Given the description of an element on the screen output the (x, y) to click on. 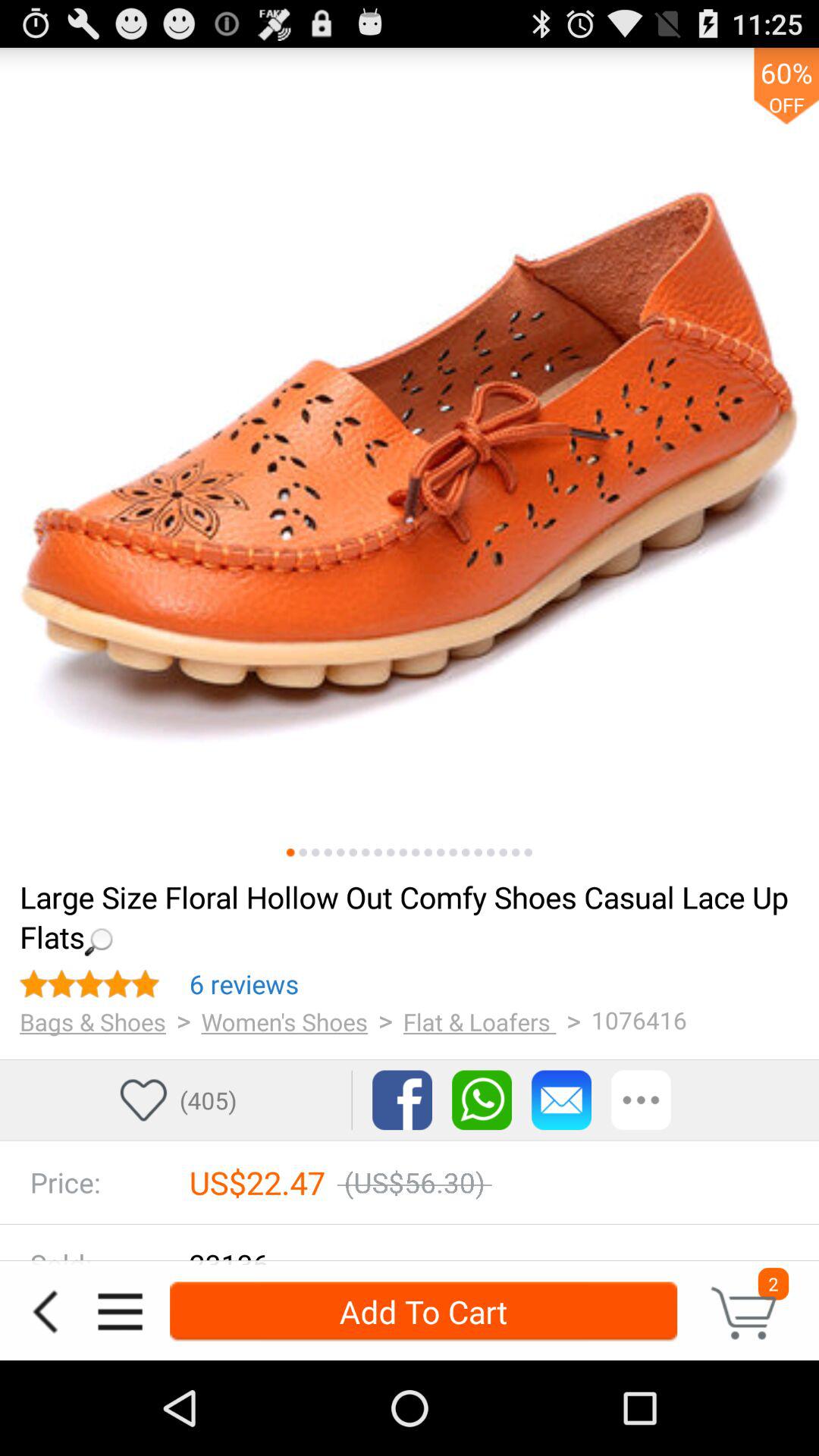
view next photo (340, 852)
